Given the description of an element on the screen output the (x, y) to click on. 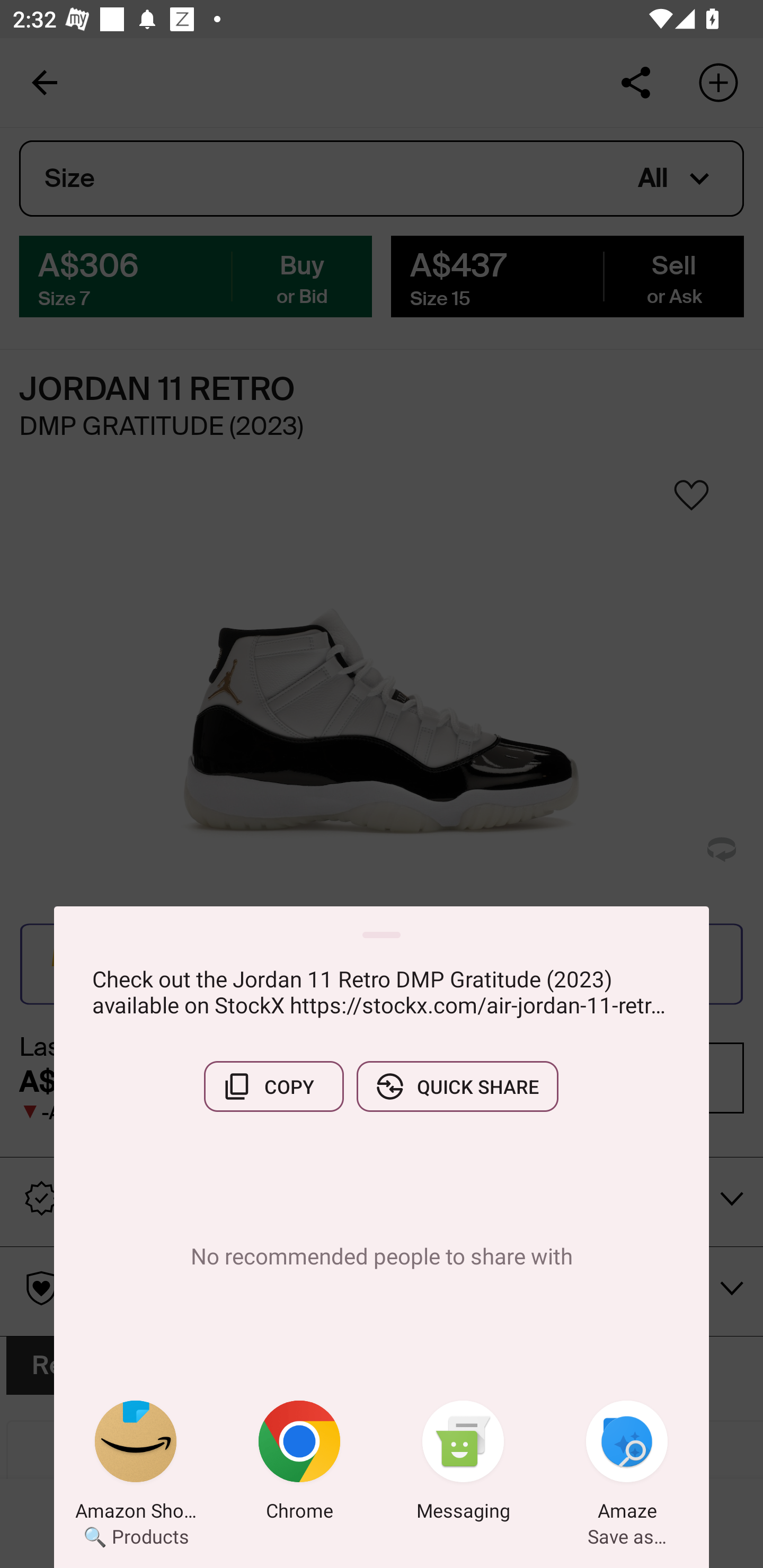
COPY (273, 1086)
QUICK SHARE (457, 1086)
Amazon Shopping 🔍 Products (135, 1463)
Chrome (299, 1463)
Messaging (463, 1463)
Amaze Save as… (626, 1463)
